Given the description of an element on the screen output the (x, y) to click on. 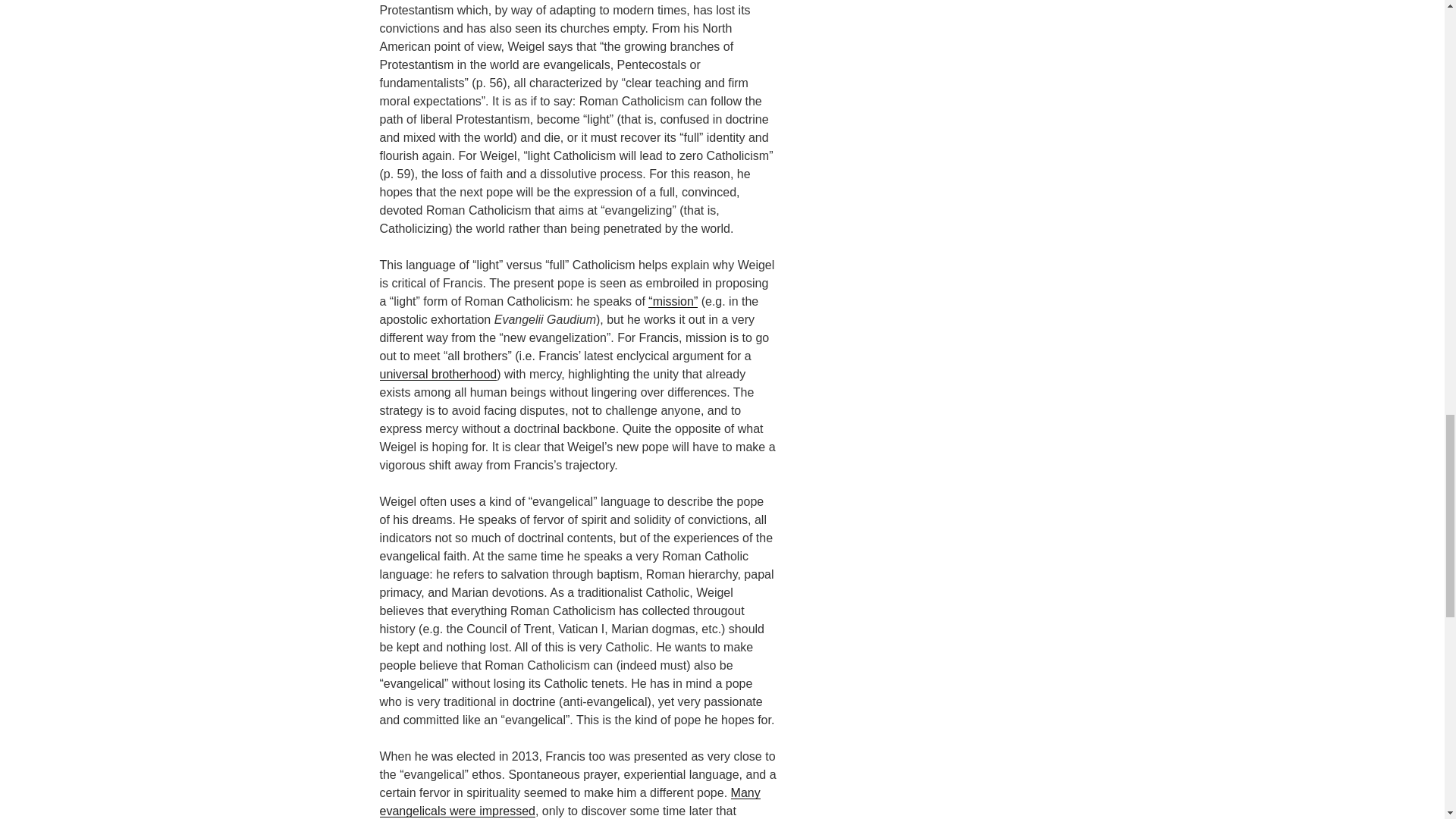
universal brotherhood (437, 373)
Many evangelicals were impressed (569, 801)
